Given the description of an element on the screen output the (x, y) to click on. 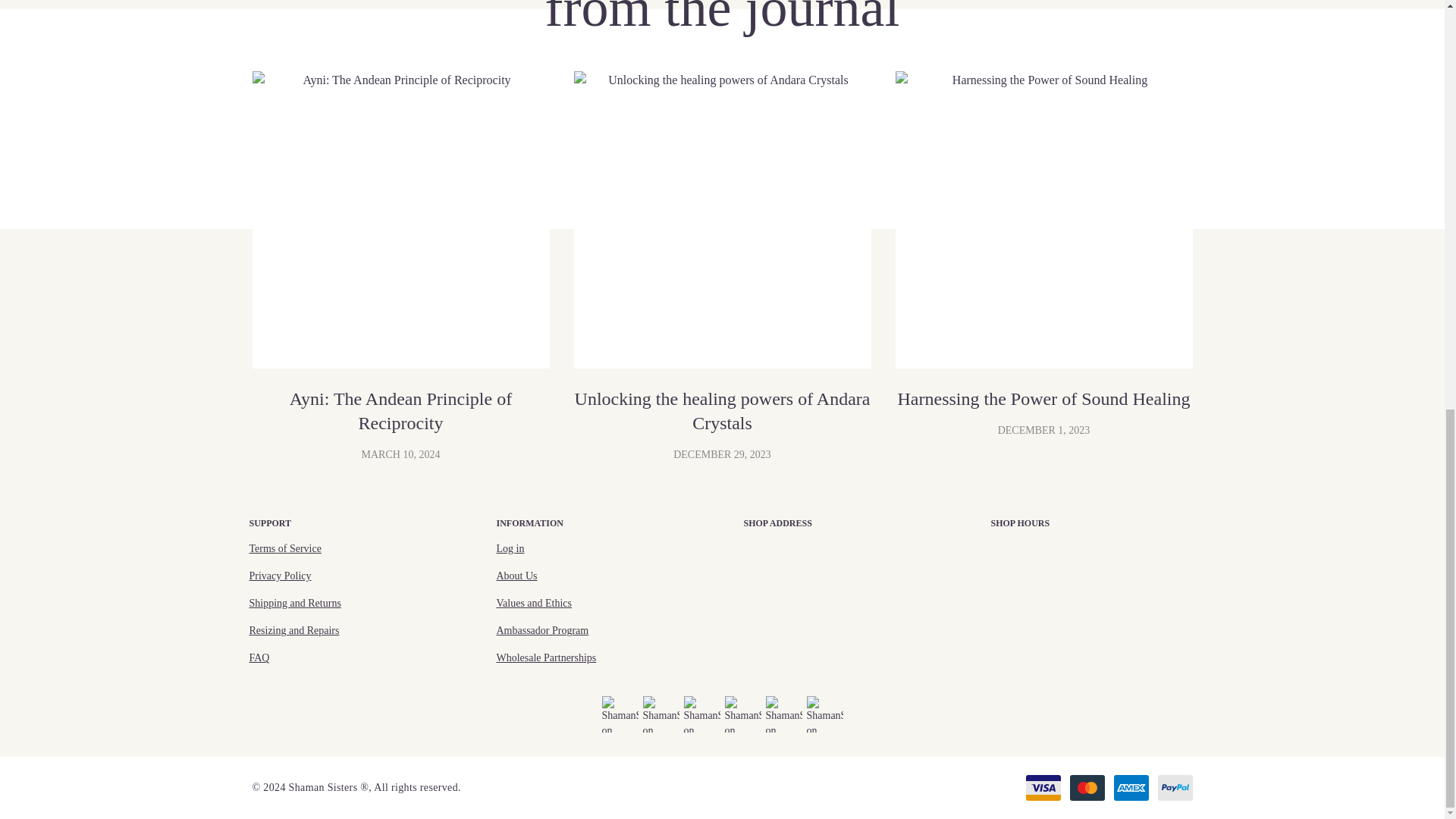
ShamanSisters on Pinterest (783, 713)
ShamanSisters on Twitter (824, 713)
Harnessing the Power of Sound Healing (1043, 219)
We accept VISA (1042, 787)
Unlocking the healing powers of Andara Crystals (721, 219)
ShamanSisters on Facebook (620, 713)
ShamanSisters on Instagram (661, 713)
ShamanSisters on TikTok (702, 713)
ShamanSisters on Youtube (743, 713)
Ayni: The Andean Principle of Reciprocity (399, 219)
